Given the description of an element on the screen output the (x, y) to click on. 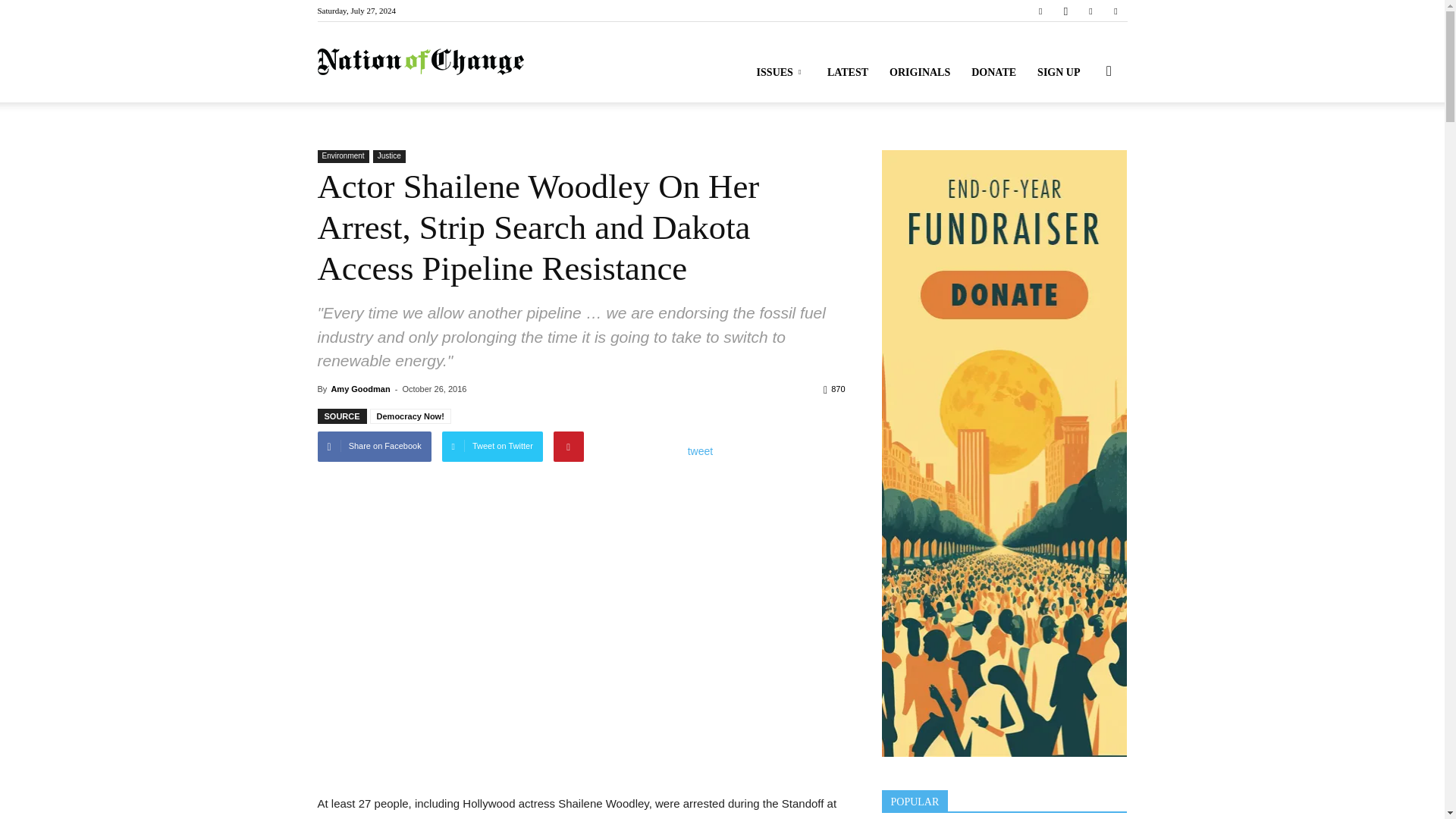
ISSUES (780, 72)
Facebook (1040, 10)
Instagram (1065, 10)
Youtube (1114, 10)
NationofChange (419, 61)
Twitter (1090, 10)
